Given the description of an element on the screen output the (x, y) to click on. 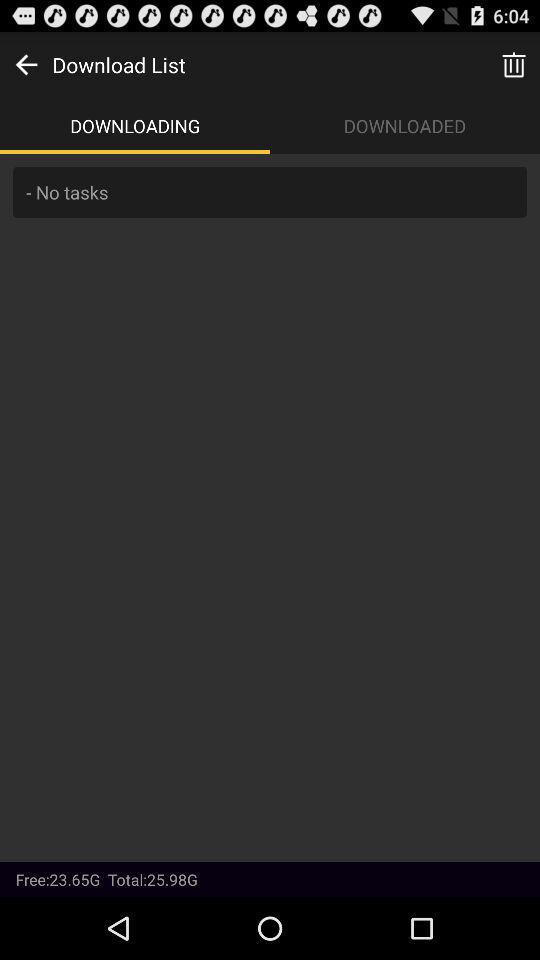
select trash can (513, 64)
